Given the description of an element on the screen output the (x, y) to click on. 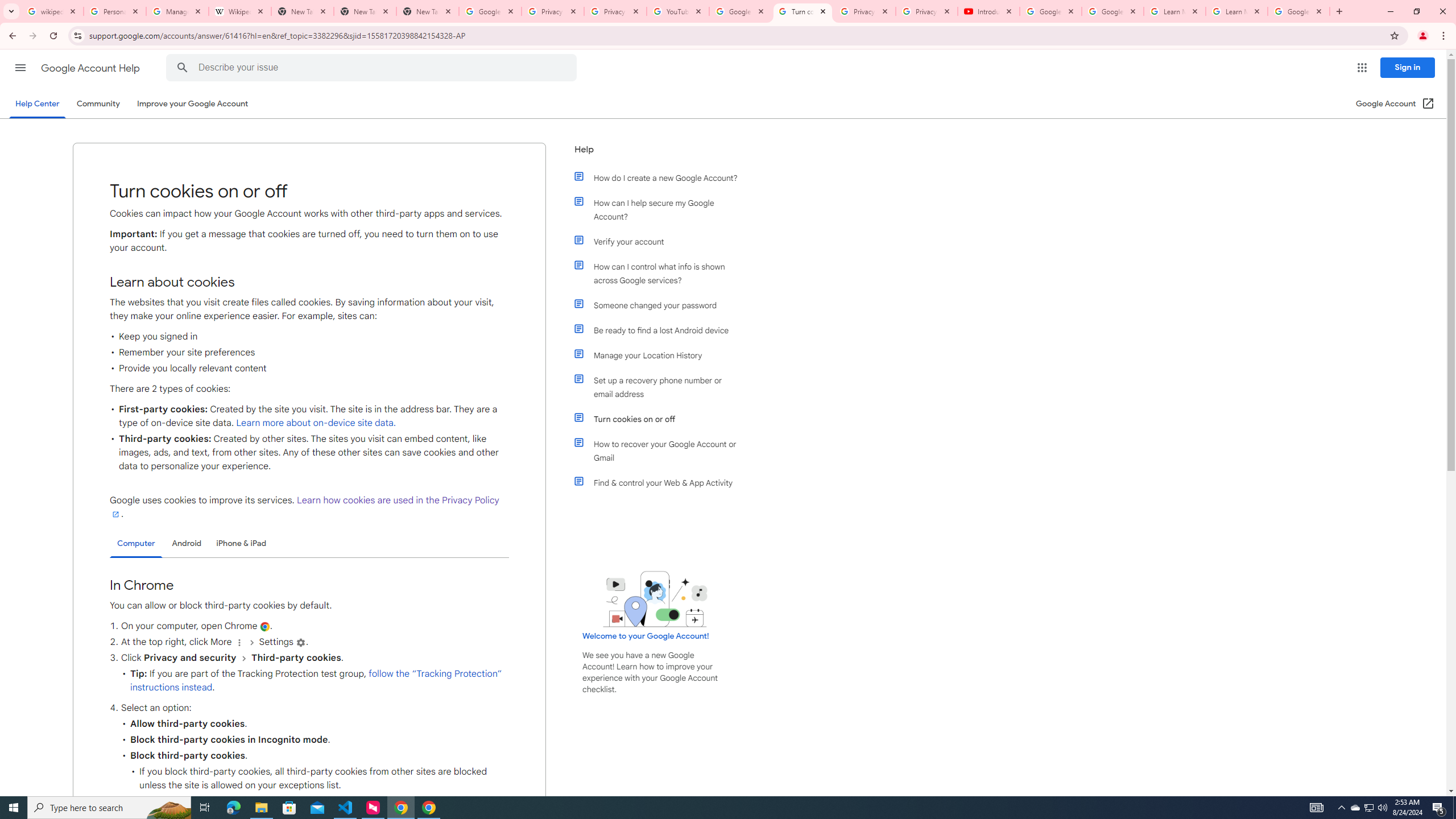
Verify your account (661, 241)
New Tab (427, 11)
iPhone & iPad (240, 542)
Google Account (Open in a new window) (1395, 103)
Wikipedia:Edit requests - Wikipedia (239, 11)
Turn cookies on or off (661, 419)
Google Drive: Sign-in (490, 11)
How can I control what info is shown across Google services? (661, 273)
Manage your Location History - Google Search Help (177, 11)
Search Help Center (181, 67)
